Given the description of an element on the screen output the (x, y) to click on. 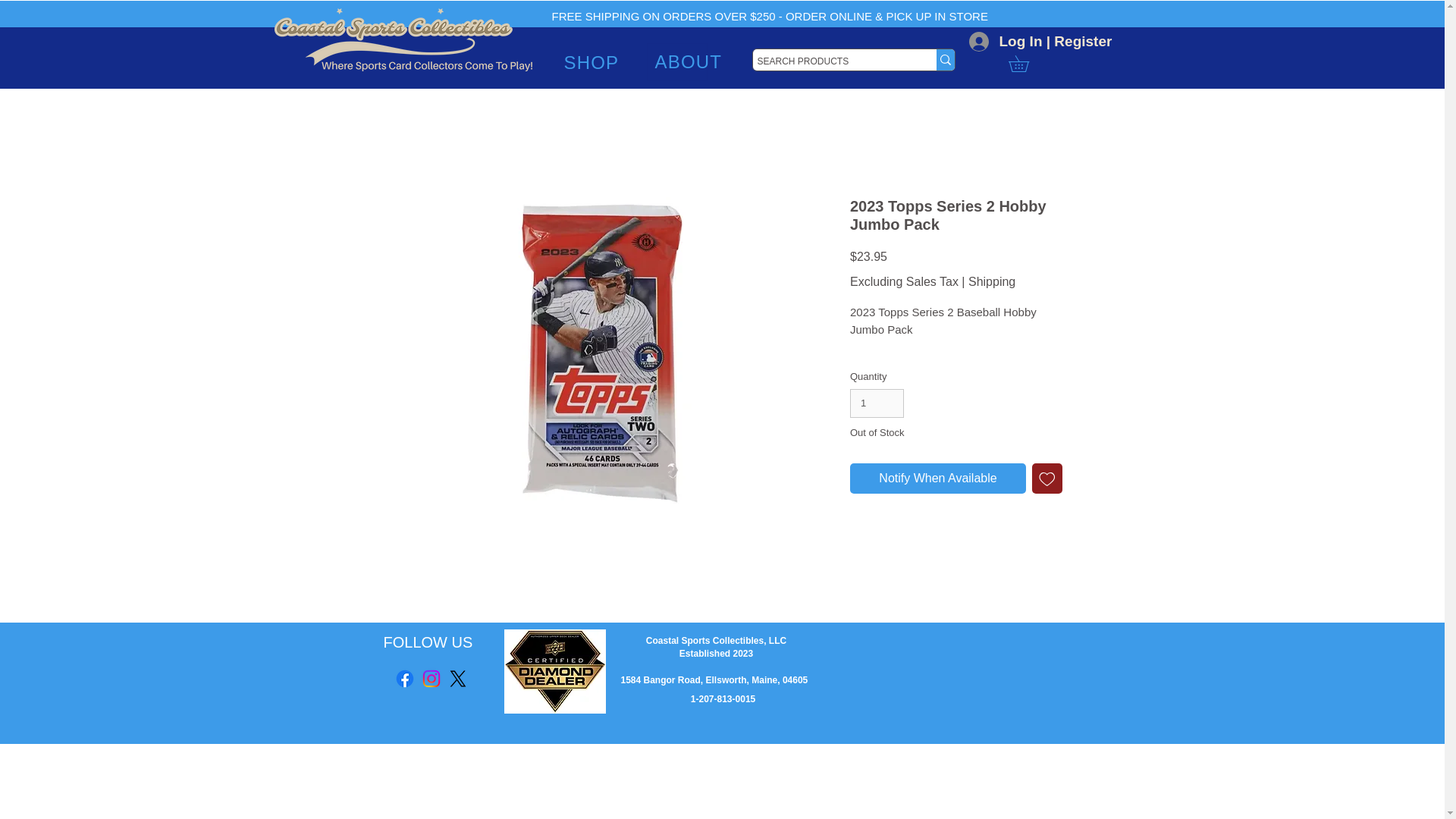
1 (877, 403)
Shipping (991, 281)
Notify When Available (938, 478)
